Given the description of an element on the screen output the (x, y) to click on. 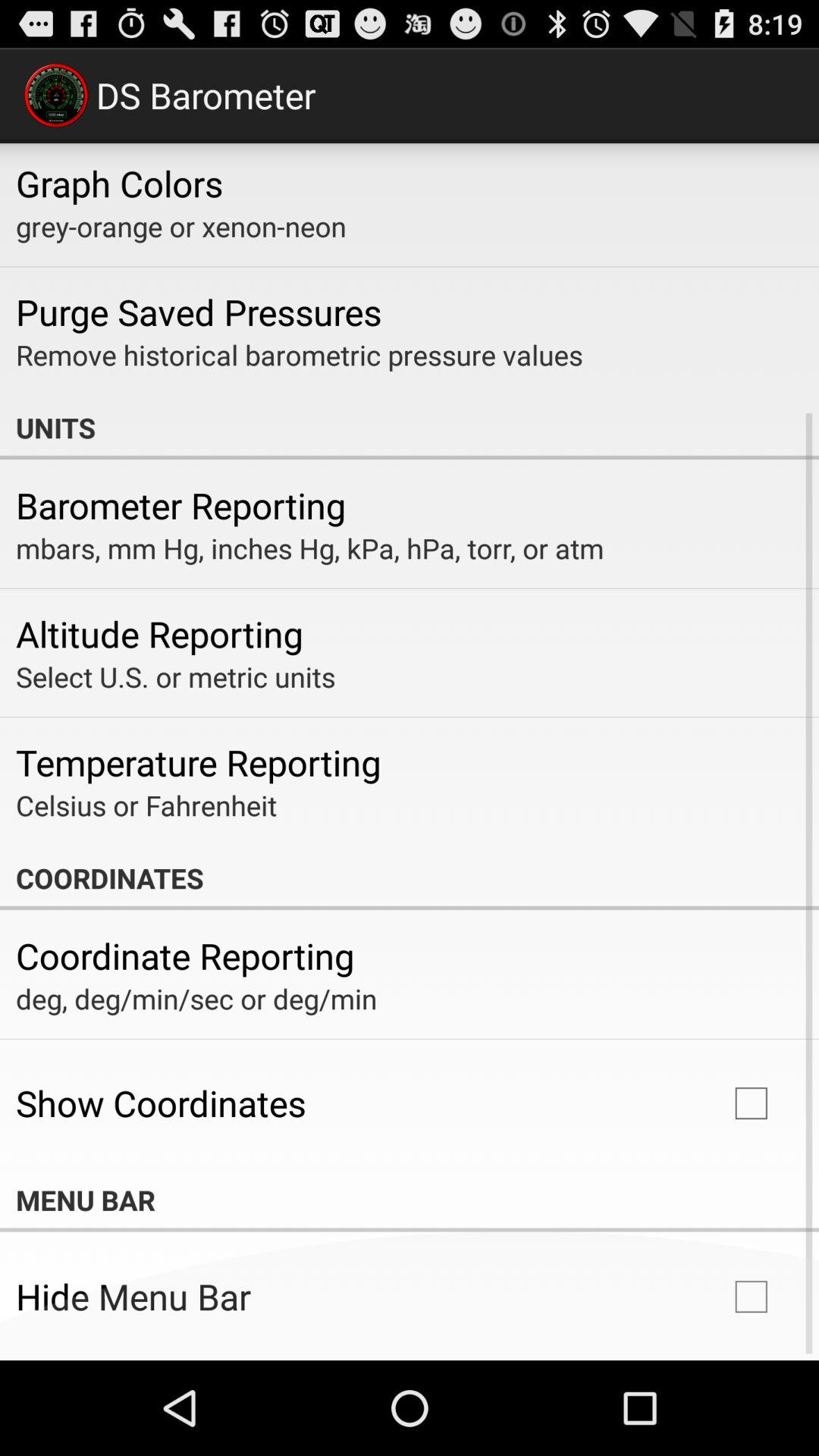
open the icon above altitude reporting (309, 548)
